Given the description of an element on the screen output the (x, y) to click on. 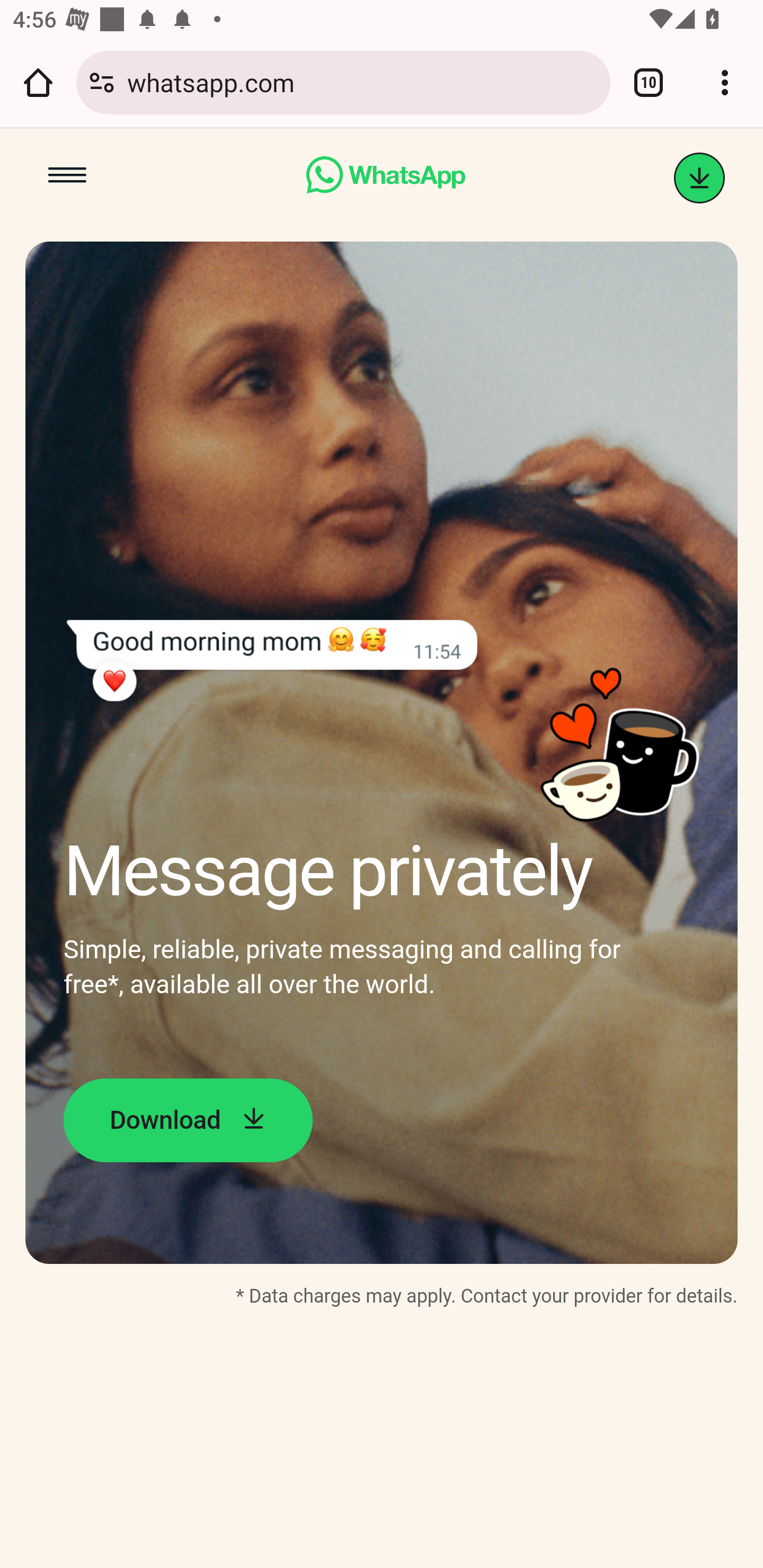
Open the home page (38, 82)
Connection is secure (101, 82)
Switch or close tabs (648, 82)
Customize and control Google Chrome (724, 82)
whatsapp.com (362, 82)
Open mobile menu (67, 177)
details?id=com (698, 177)
WhatsApp Main Page (385, 177)
Download (187, 1120)
